Given the description of an element on the screen output the (x, y) to click on. 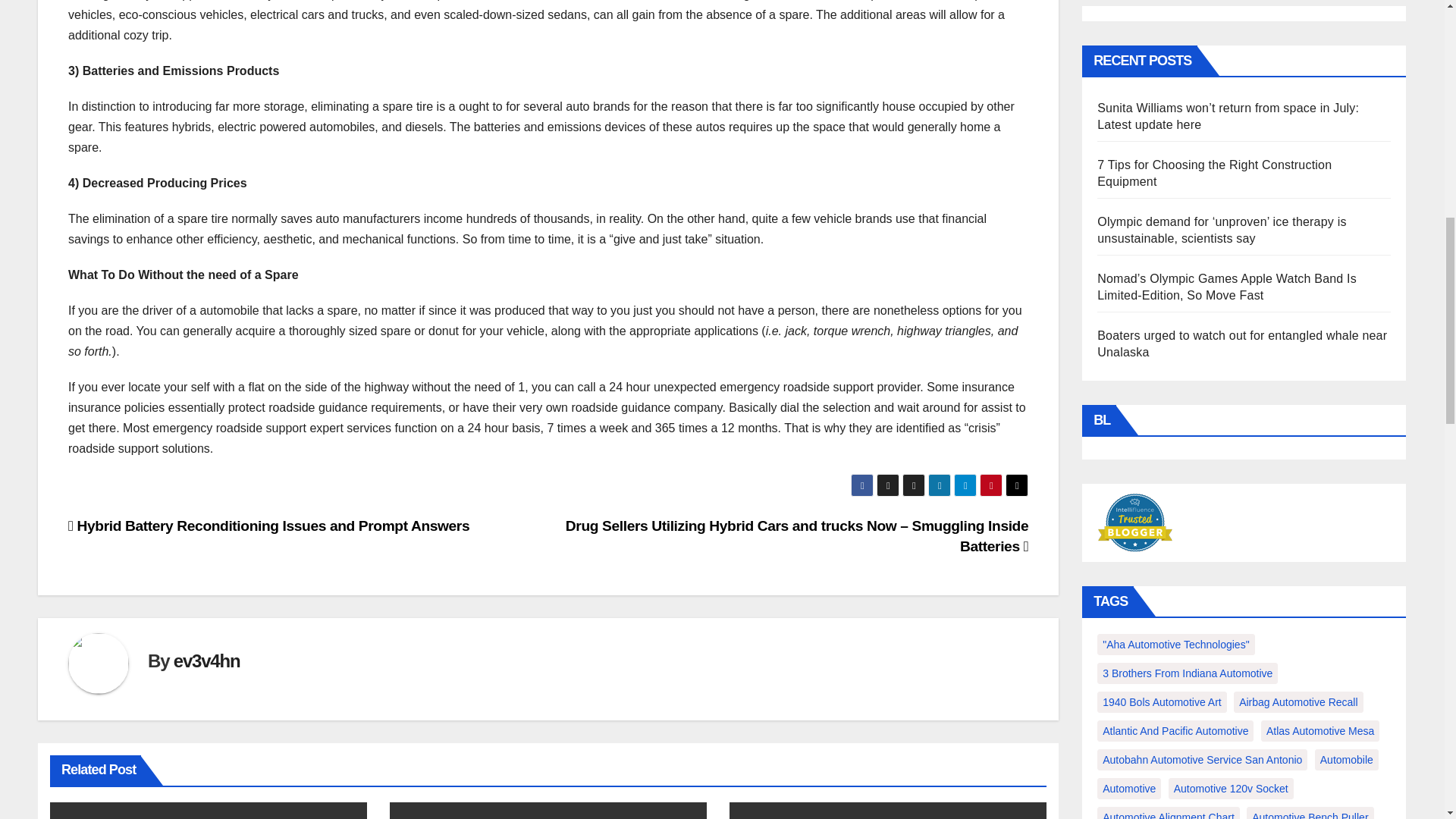
ev3v4hn (206, 660)
Hybrid Battery Reconditioning Issues and Prompt Answers (268, 525)
